Given the description of an element on the screen output the (x, y) to click on. 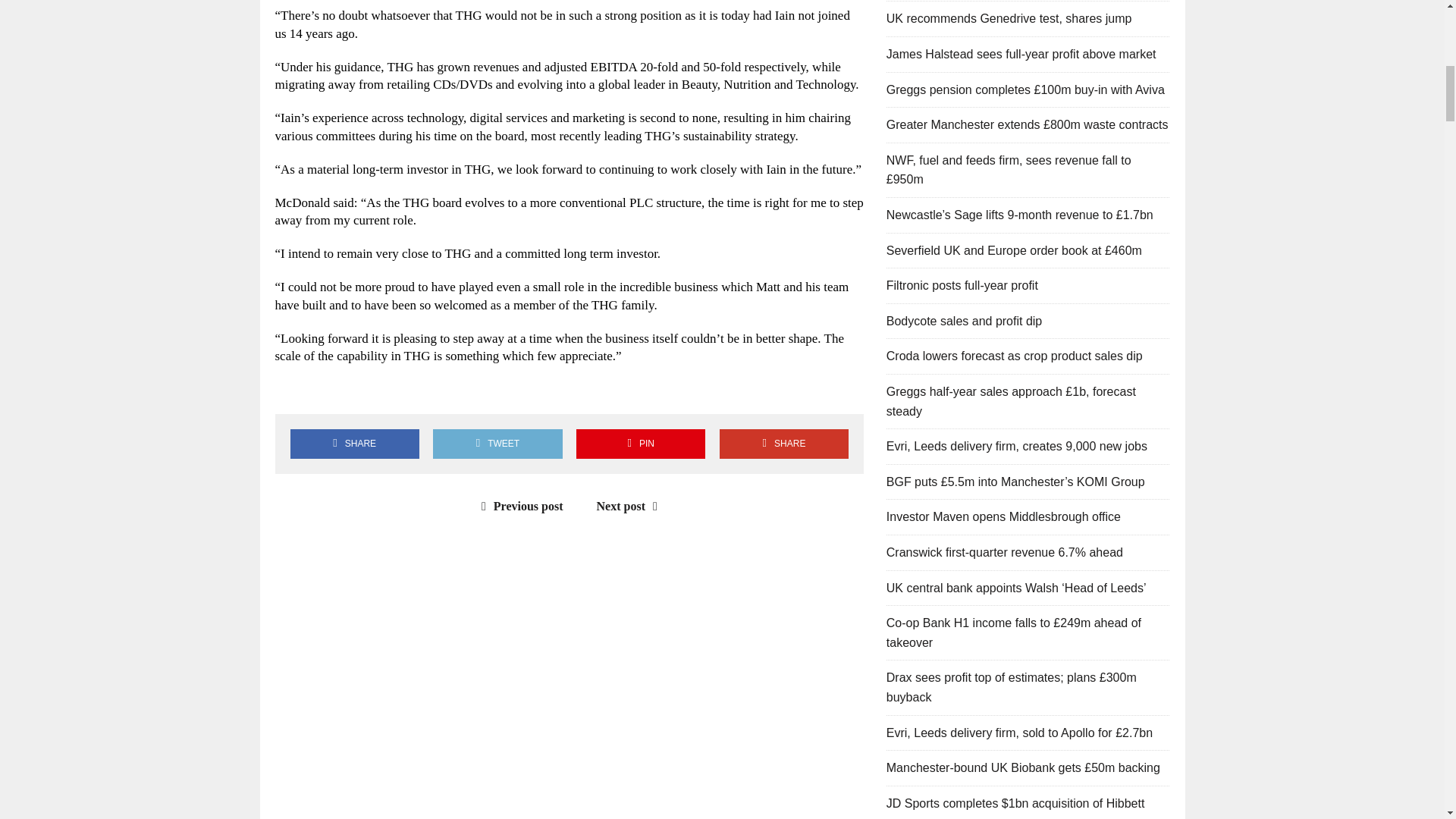
Tweet This Post (497, 443)
Pin This Post (640, 443)
TWEET (497, 443)
PIN (640, 443)
Share on Facebook (354, 443)
Next post (630, 505)
SHARE (783, 443)
SHARE (354, 443)
Previous post (518, 505)
